Given the description of an element on the screen output the (x, y) to click on. 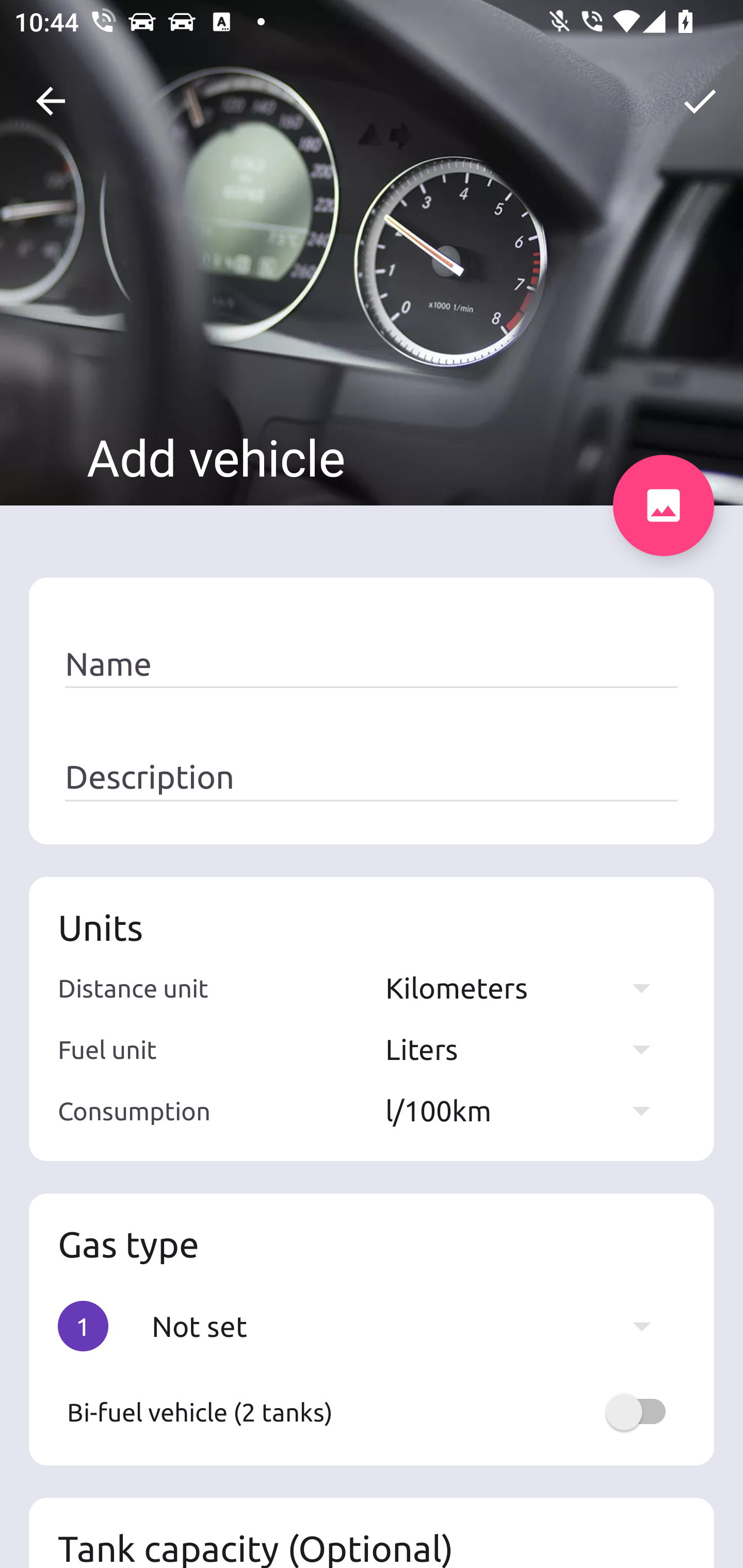
Navigate up (50, 101)
OK (699, 101)
Name (371, 664)
Description (371, 777)
Kilometers (527, 987)
Liters (527, 1048)
l/100km (527, 1110)
Not set (411, 1325)
Bi-fuel vehicle (2 tanks) (371, 1411)
